Given the description of an element on the screen output the (x, y) to click on. 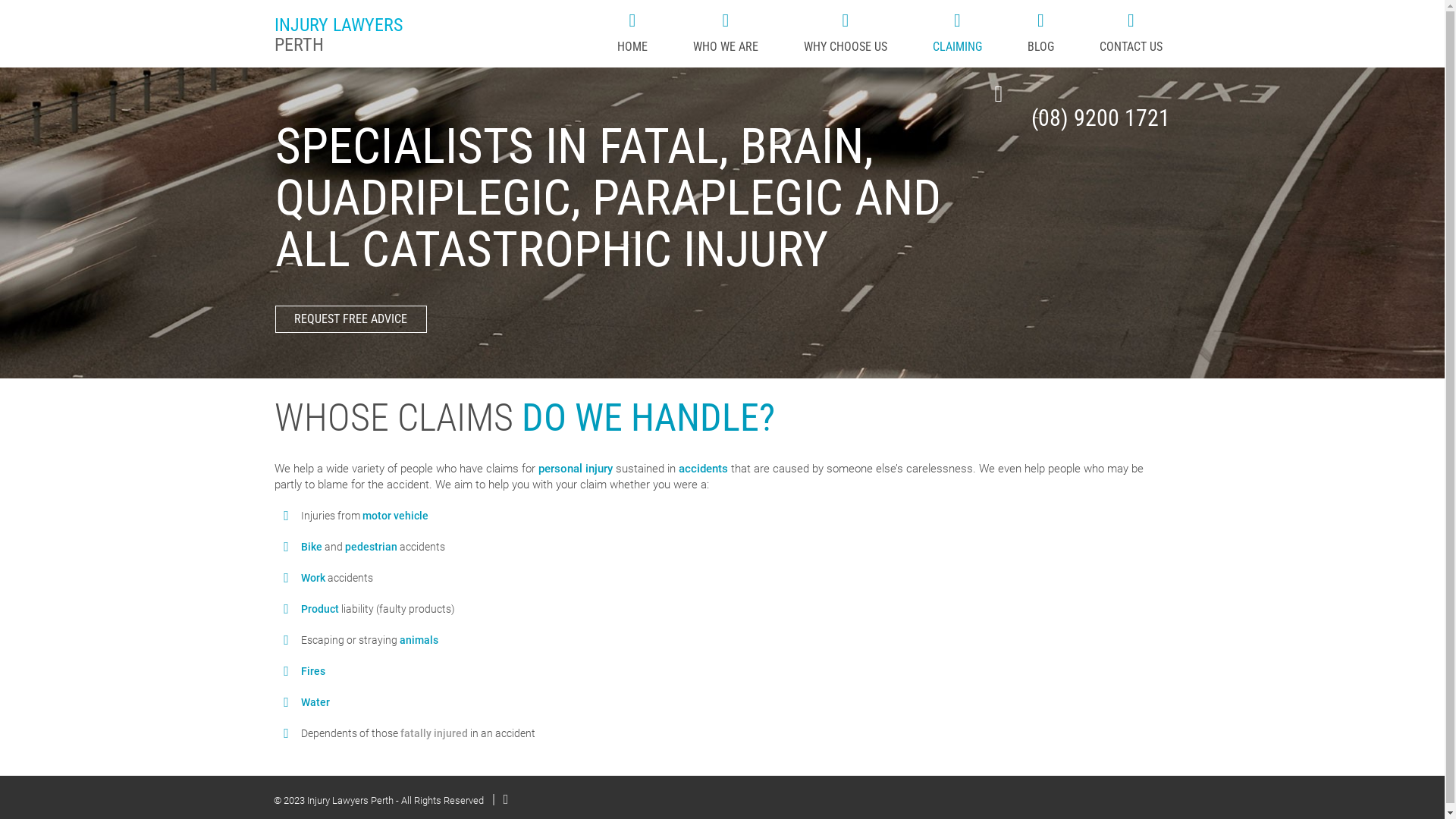
WHO WE ARE Element type: text (725, 31)
BLOG Element type: text (1040, 31)
CONTACT US Element type: text (1131, 31)
INJURY LAWYERS
PERTH Element type: text (380, 37)
HOME Element type: text (632, 31)
(08) 9200 1721 Element type: text (1100, 106)
CLAIMING Element type: text (957, 31)
fatally injured Element type: text (433, 733)
WHY CHOOSE US Element type: text (845, 31)
REQUEST FREE ADVICE Element type: text (350, 318)
